Given the description of an element on the screen output the (x, y) to click on. 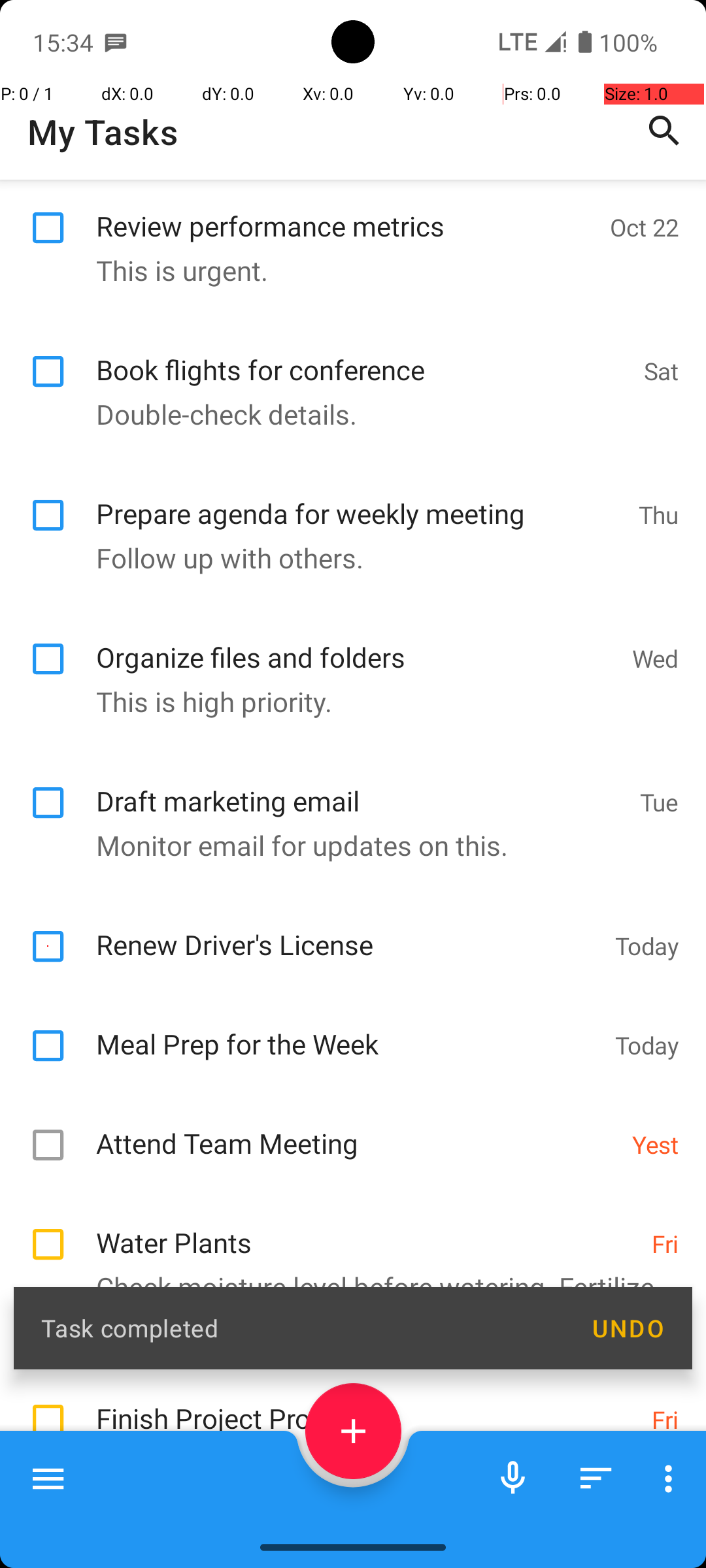
Task completed Element type: android.widget.TextView (302, 1327)
UNDO Element type: android.widget.Button (627, 1328)
Review performance metrics Element type: android.widget.TextView (346, 211)
This is urgent. Element type: android.widget.TextView (346, 269)
Oct 22 Element type: android.widget.TextView (644, 226)
Book flights for conference Element type: android.widget.TextView (363, 355)
Double-check details. Element type: android.widget.TextView (346, 413)
Prepare agenda for weekly meeting Element type: android.widget.TextView (360, 499)
Follow up with others. Element type: android.widget.TextView (346, 557)
Organize files and folders Element type: android.widget.TextView (357, 642)
This is high priority. Element type: android.widget.TextView (346, 700)
Draft marketing email Element type: android.widget.TextView (361, 786)
Monitor email for updates on this. Element type: android.widget.TextView (346, 844)
Check moisture level before watering. Fertilize succulents. Element type: android.widget.TextView (346, 1409)
